Given the description of an element on the screen output the (x, y) to click on. 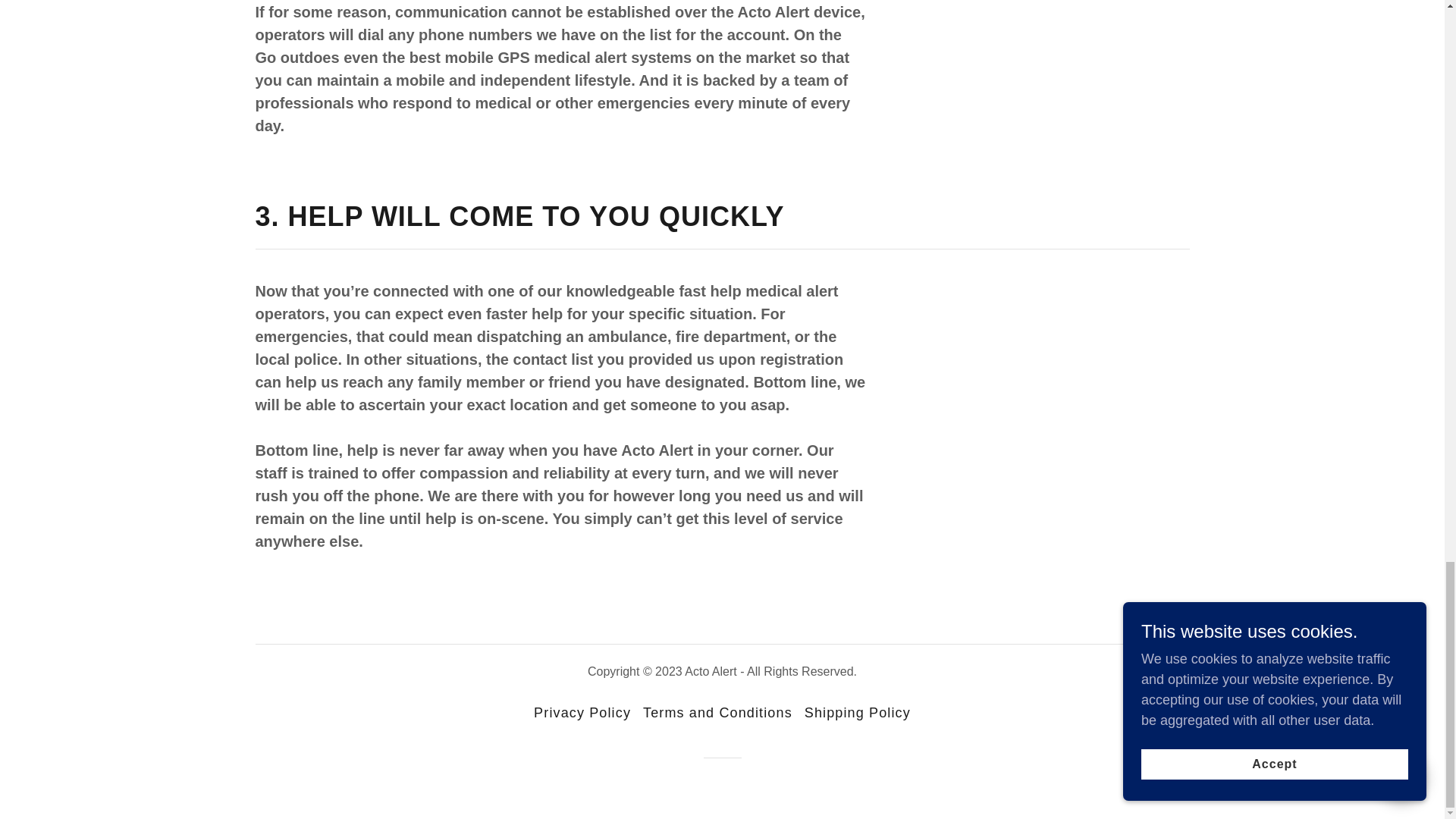
Privacy Policy (582, 713)
Terms and Conditions (717, 713)
Shipping Policy (857, 713)
